Given the description of an element on the screen output the (x, y) to click on. 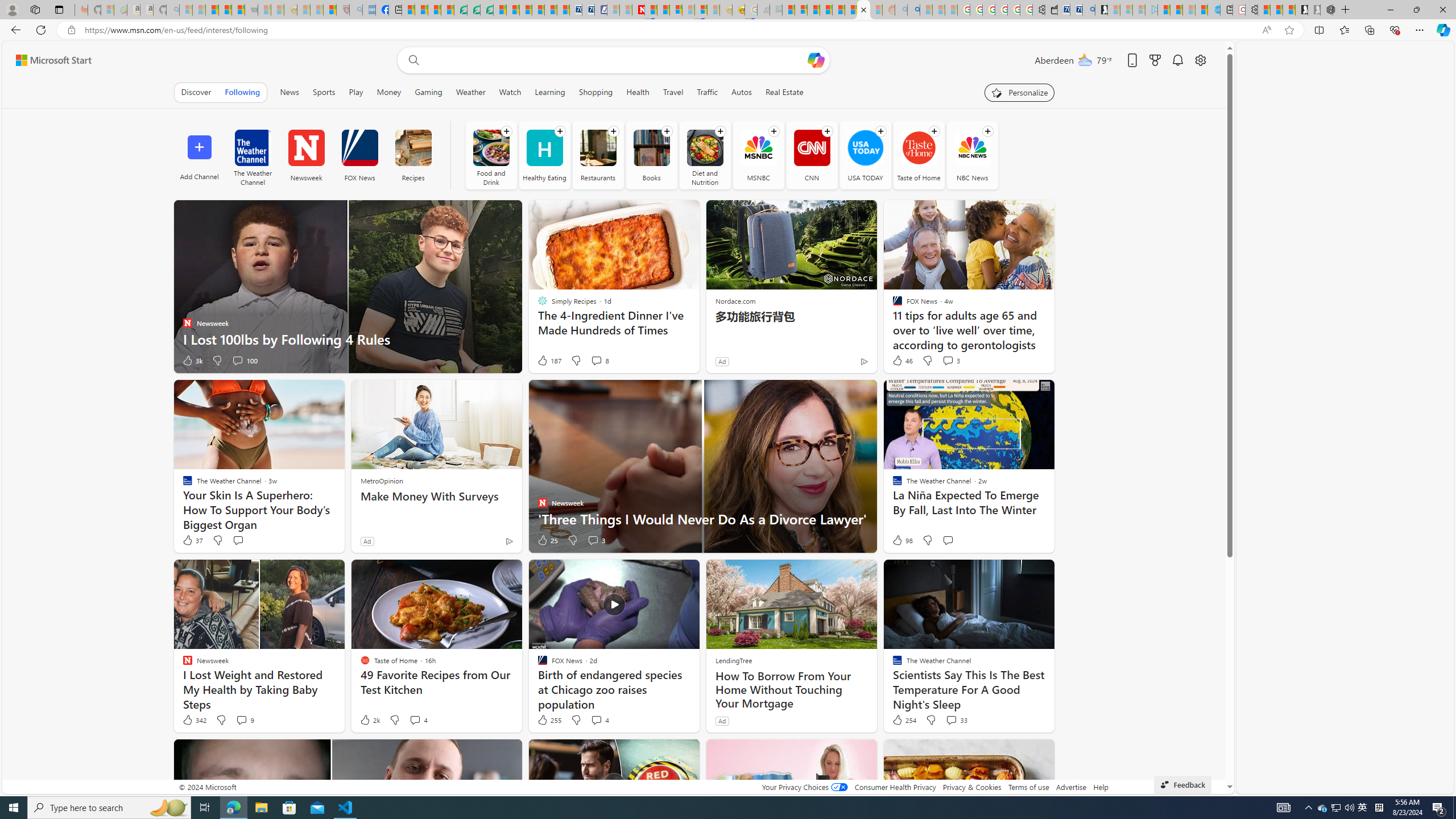
3k Like (191, 360)
Consumer Health Privacy (895, 786)
MSNBC (758, 147)
Sports (323, 92)
254 Like (903, 719)
Taste of Home (918, 147)
